Given the description of an element on the screen output the (x, y) to click on. 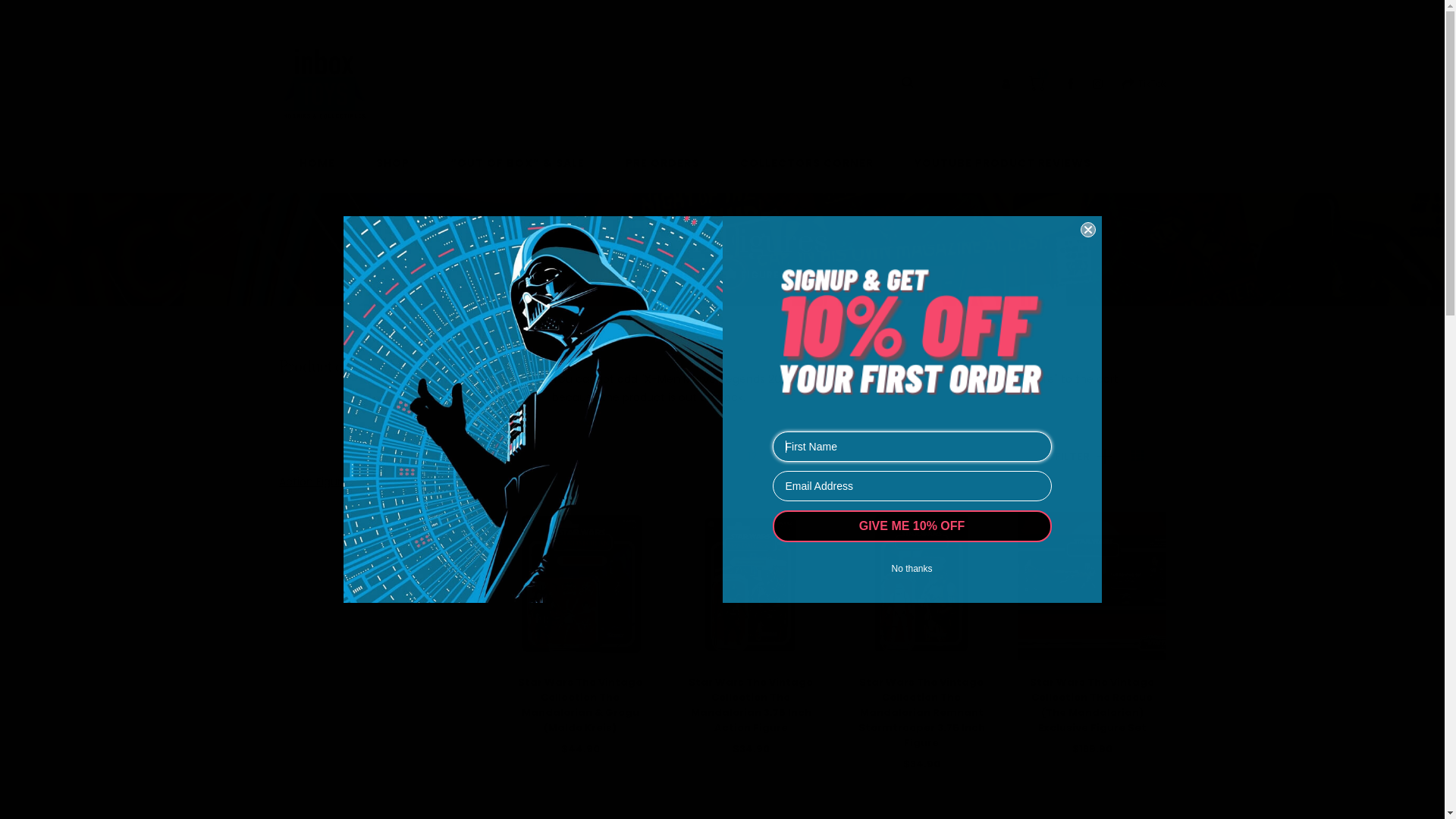
HOME Element type: text (316, 170)
0 Element type: text (1035, 83)
15 Element type: text (771, 456)
12 Element type: text (751, 456)
Add to Wishlist Element type: text (1065, 801)
Bobble Head & Vinyl Element type: text (331, 518)
Add to Wishlist Element type: text (554, 801)
Submit Element type: text (36, 17)
PRE ORDERS Element type: text (661, 170)
Games Element type: text (298, 741)
Darth Vader Element type: hover (531, 409)
Die Cast Element type: text (301, 666)
Cool Stuff Element type: text (305, 592)
ACTION FIGURES Element type: text (739, 274)
Exclusives Element type: text (305, 704)
COLLECTORS CORNER Element type: text (806, 170)
GIVE ME 10% OFF Element type: text (911, 526)
No thanks Element type: text (911, 568)
TikTok Element type: text (1144, 83)
Books & Comics Element type: text (321, 555)
SHOP Element type: text (659, 274)
Grid view Element type: hover (1138, 456)
Cos Play Element type: text (301, 629)
The Child Element type: text (304, 406)
Search for: Element type: hover (724, 83)
Add to Wishlist Element type: text (724, 801)
List view Element type: hover (1159, 456)
30 Element type: text (793, 456)
YOUTUBE PRODUCT REVIEWS Element type: text (1002, 170)
Merchandise Element type: text (313, 778)
SHOP Element type: text (392, 170)
Action Figures Element type: text (316, 481)
Action Figure Accessories Element type: text (346, 443)
HOME Element type: text (609, 274)
